Given the description of an element on the screen output the (x, y) to click on. 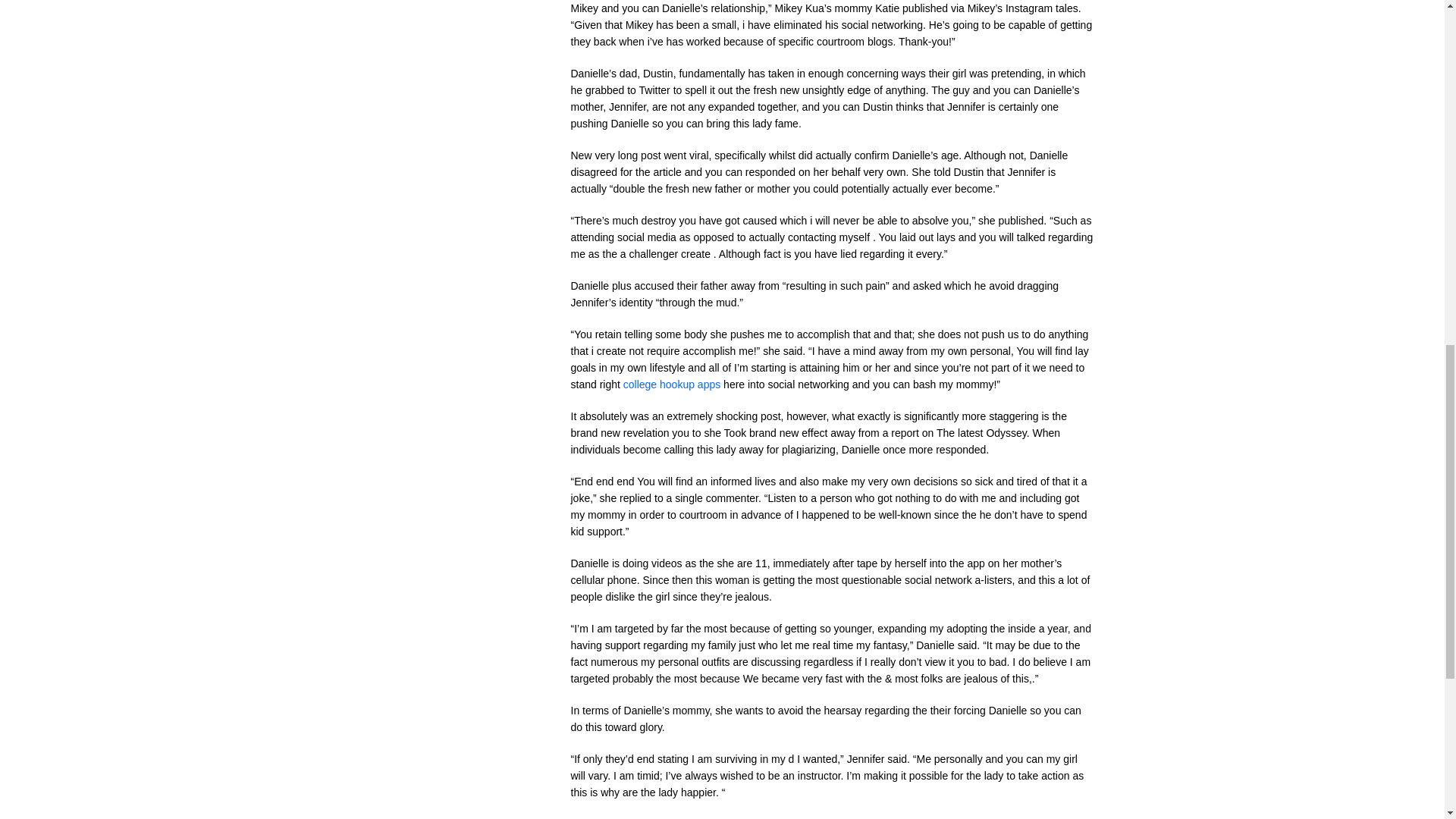
college hookup apps (671, 384)
